Given the description of an element on the screen output the (x, y) to click on. 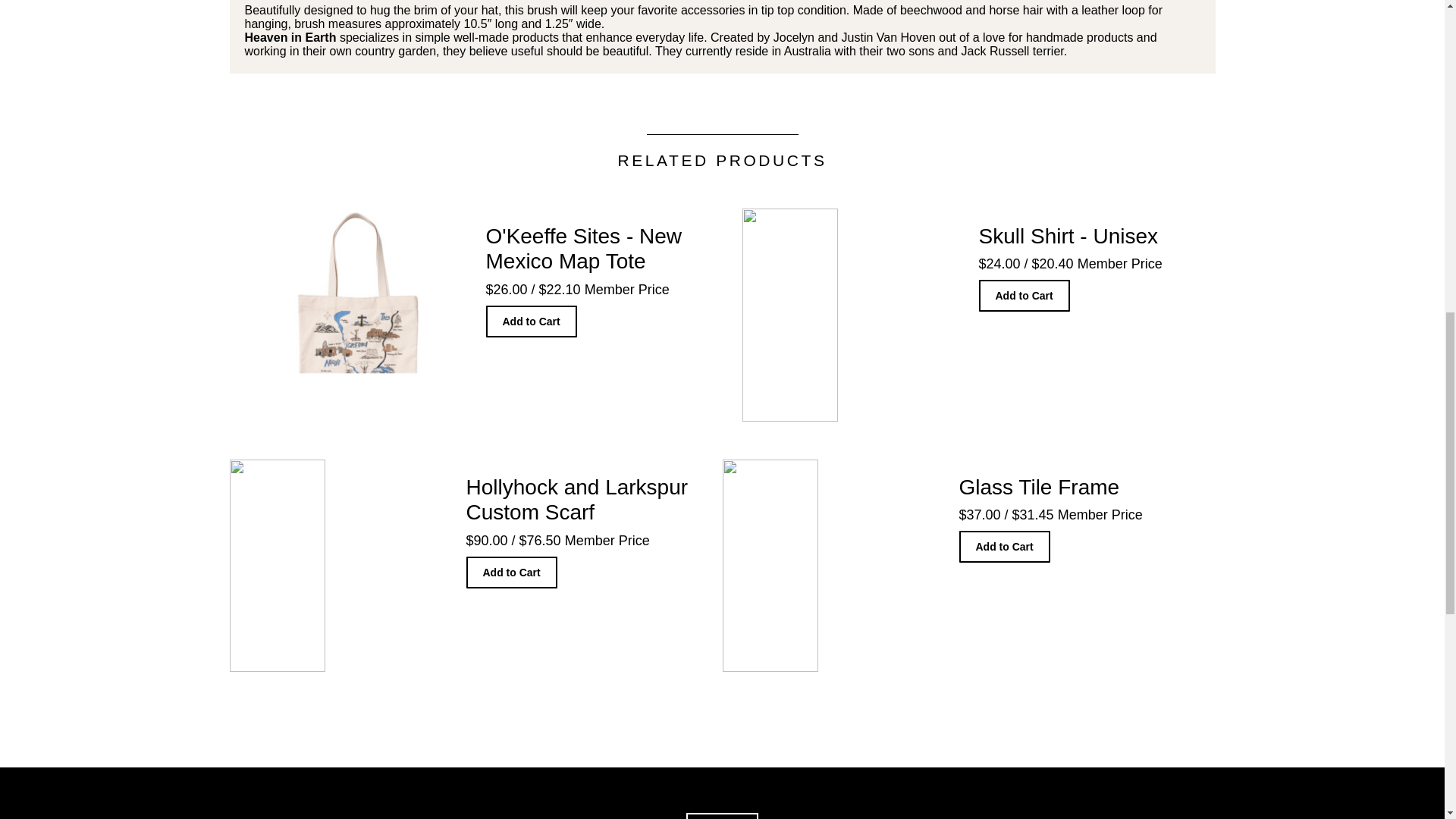
O'Keeffe Sites - New Mexico Map Tote product detail page (485, 314)
The Georgia O'Keeffe Museum (721, 816)
Hollyhock and Larkspur Custom Scarf product detail page (464, 565)
Add to Cart (1023, 296)
Skull Shirt - Unisex product detail page (977, 314)
Add to Cart (530, 321)
Glass Tile Frame product detail page (958, 565)
Add to Cart (1003, 546)
Add to Cart (510, 572)
